Given the description of an element on the screen output the (x, y) to click on. 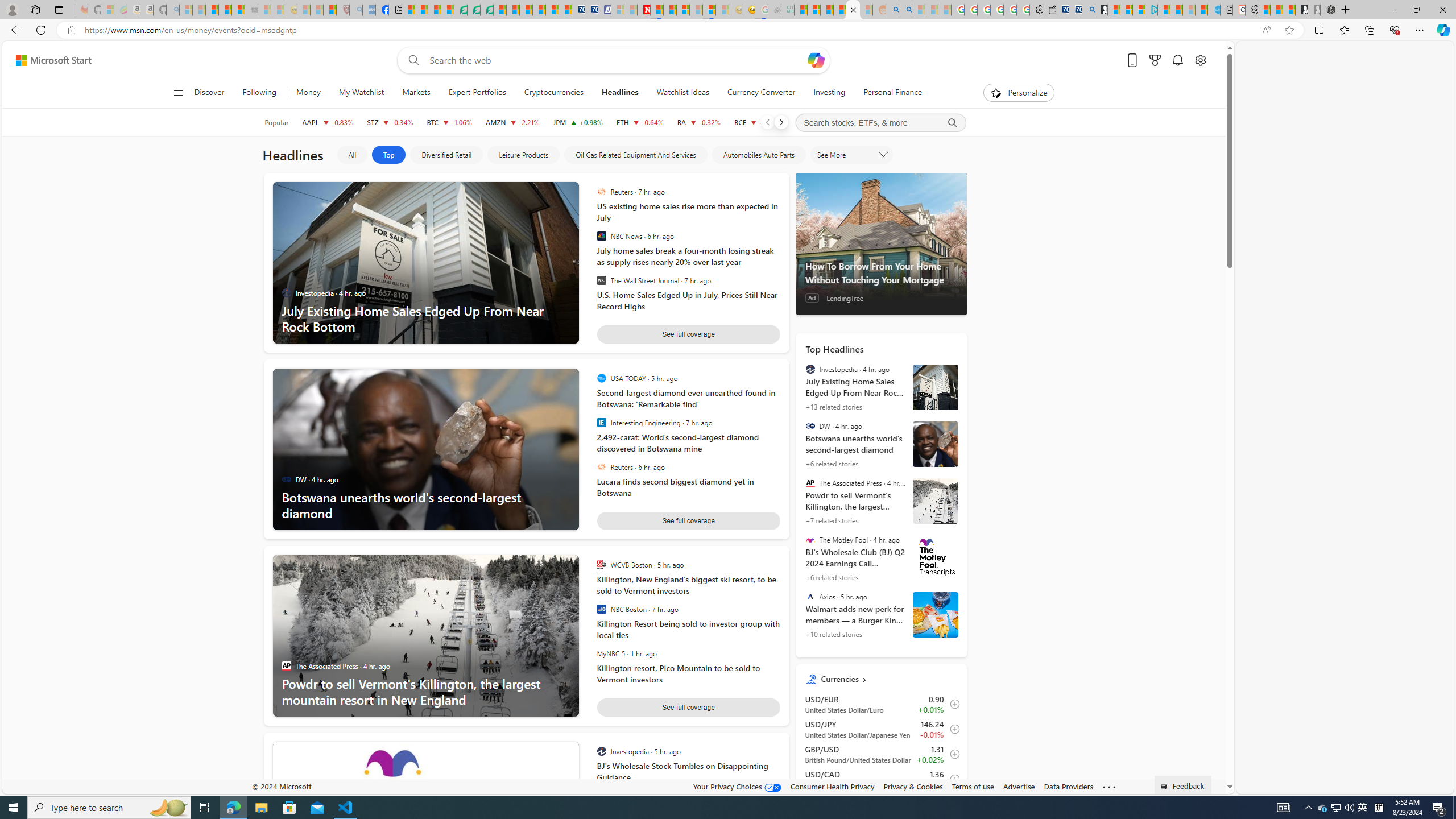
Markets (415, 92)
Latest Politics News & Archive | Newsweek.com (643, 9)
Popular (276, 121)
Interesting Engineering 7 hr. ago (685, 422)
The Wall Street Journal 7 hr. ago (685, 280)
The Weather Channel - MSN (212, 9)
ETH Ethereum decrease 2,624.30 -16.80 -0.64% (639, 122)
MarketWatch (600, 795)
Microsoft account | Privacy (1139, 9)
Reuters (600, 466)
App bar (728, 29)
